Given the description of an element on the screen output the (x, y) to click on. 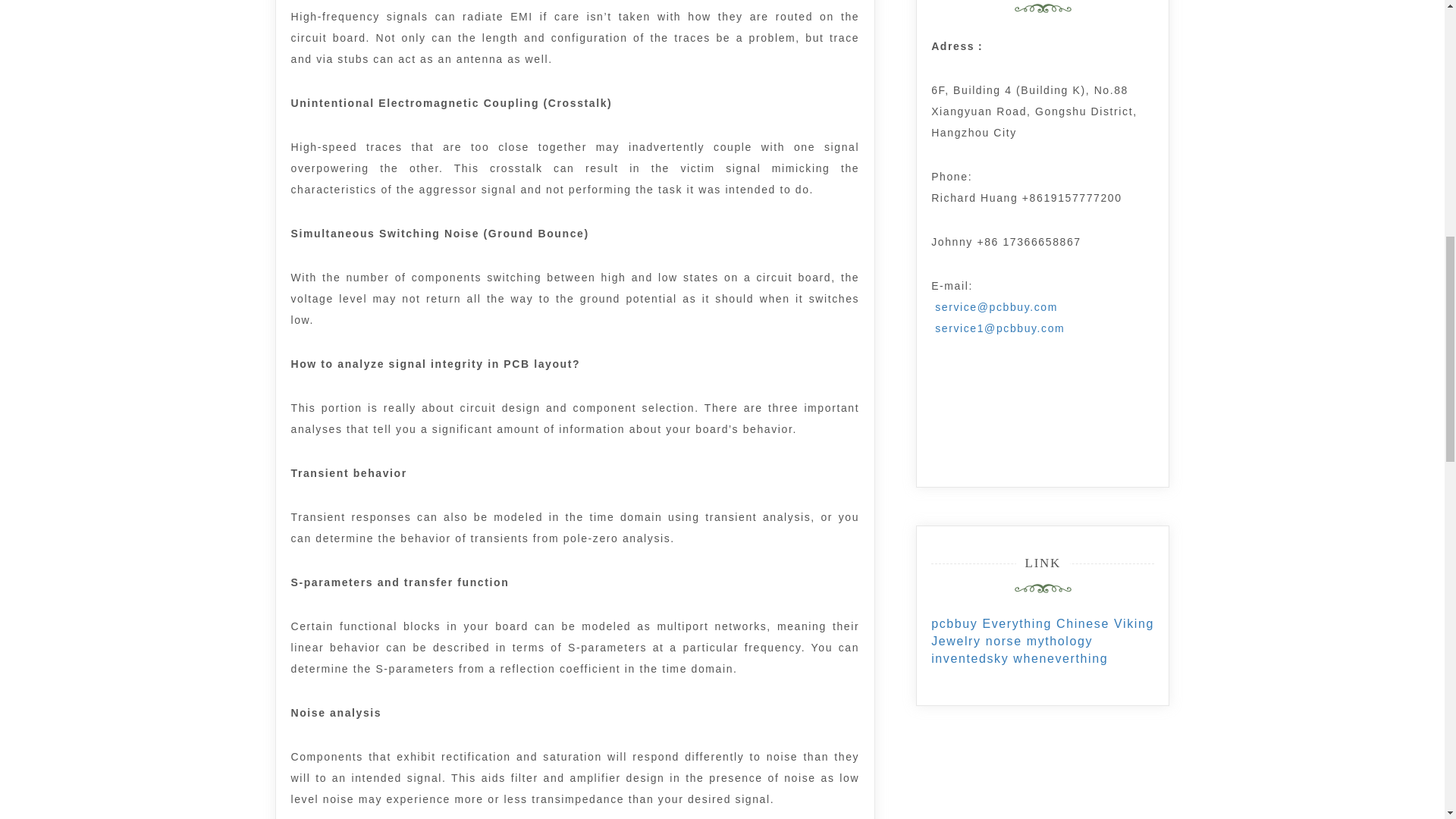
wheneverthing (1060, 658)
norse mythology (1039, 640)
Viking Jewelry (1042, 632)
Everything Chinese (1045, 623)
inventedsky (970, 658)
pcbbuy (953, 623)
